Given the description of an element on the screen output the (x, y) to click on. 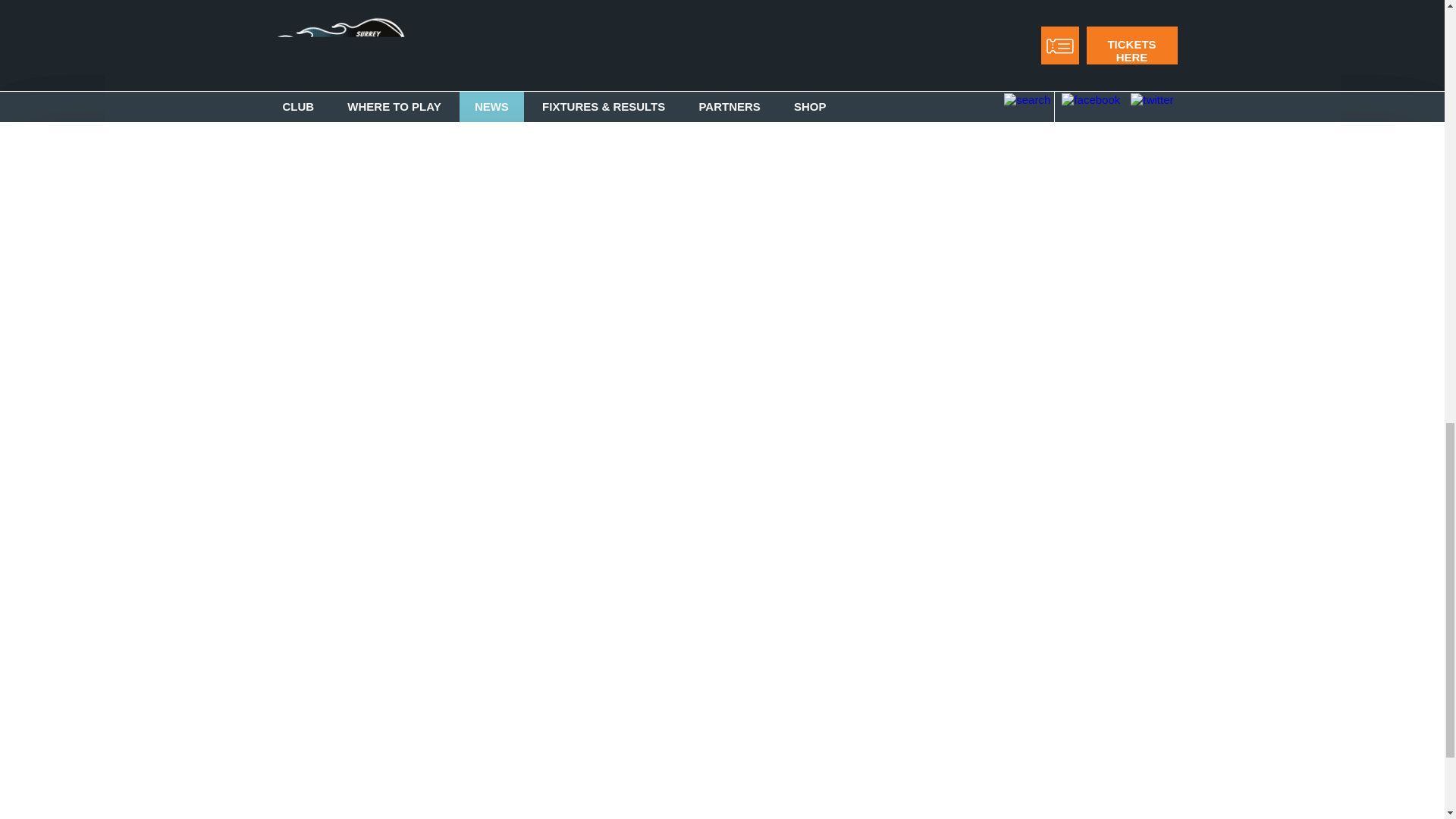
Tel (940, 649)
